Given the description of an element on the screen output the (x, y) to click on. 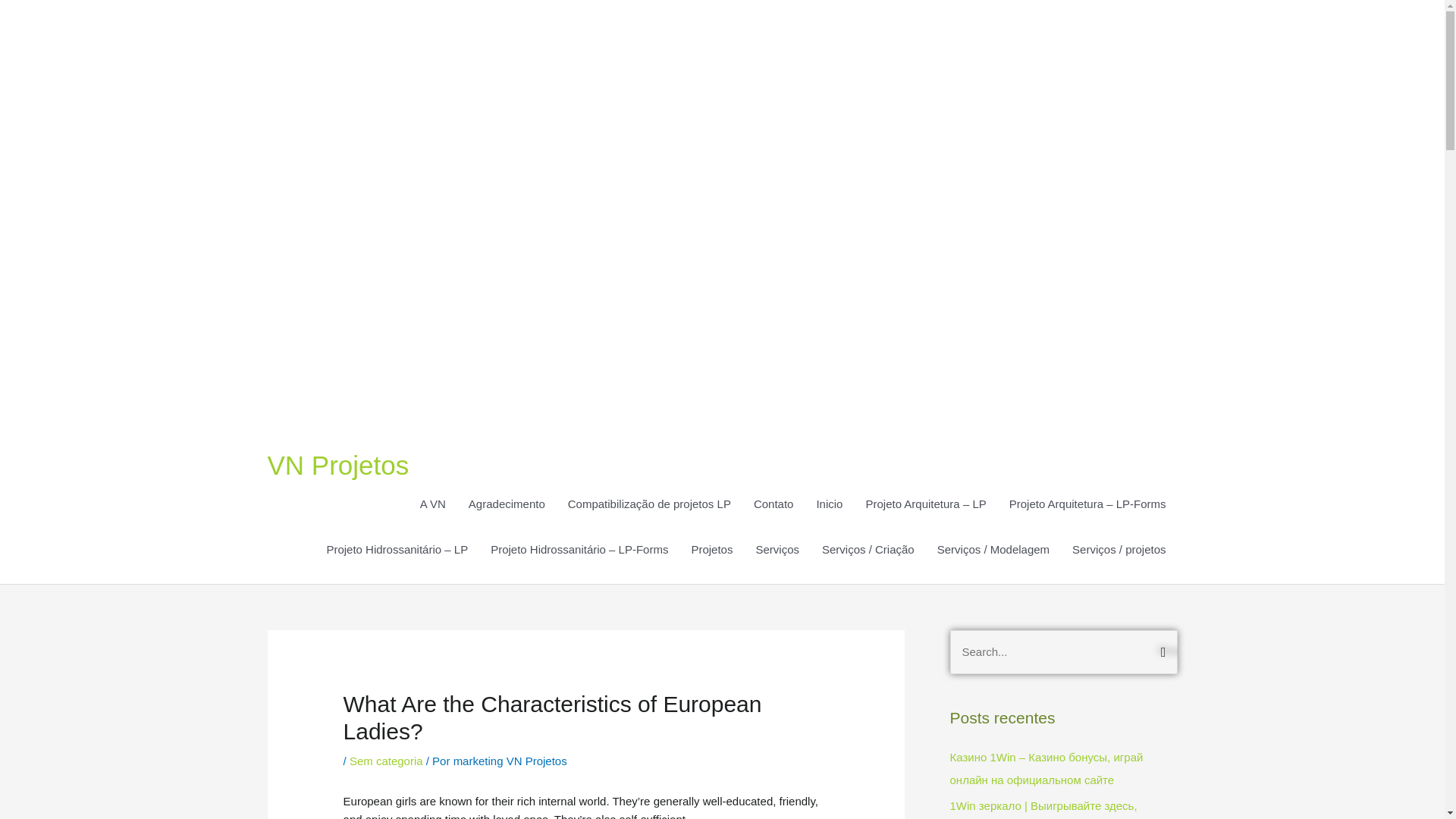
A VN (433, 504)
Projetos (711, 549)
Pesquisar (1159, 649)
Ver todos os posts de marketing VN Projetos (509, 760)
Agradecimento (506, 504)
VN Projetos (337, 464)
marketing VN Projetos (509, 760)
Pesquisar (1159, 649)
Inicio (829, 504)
Sem categoria (386, 760)
Contato (773, 504)
Pesquisar (1159, 649)
